Given the description of an element on the screen output the (x, y) to click on. 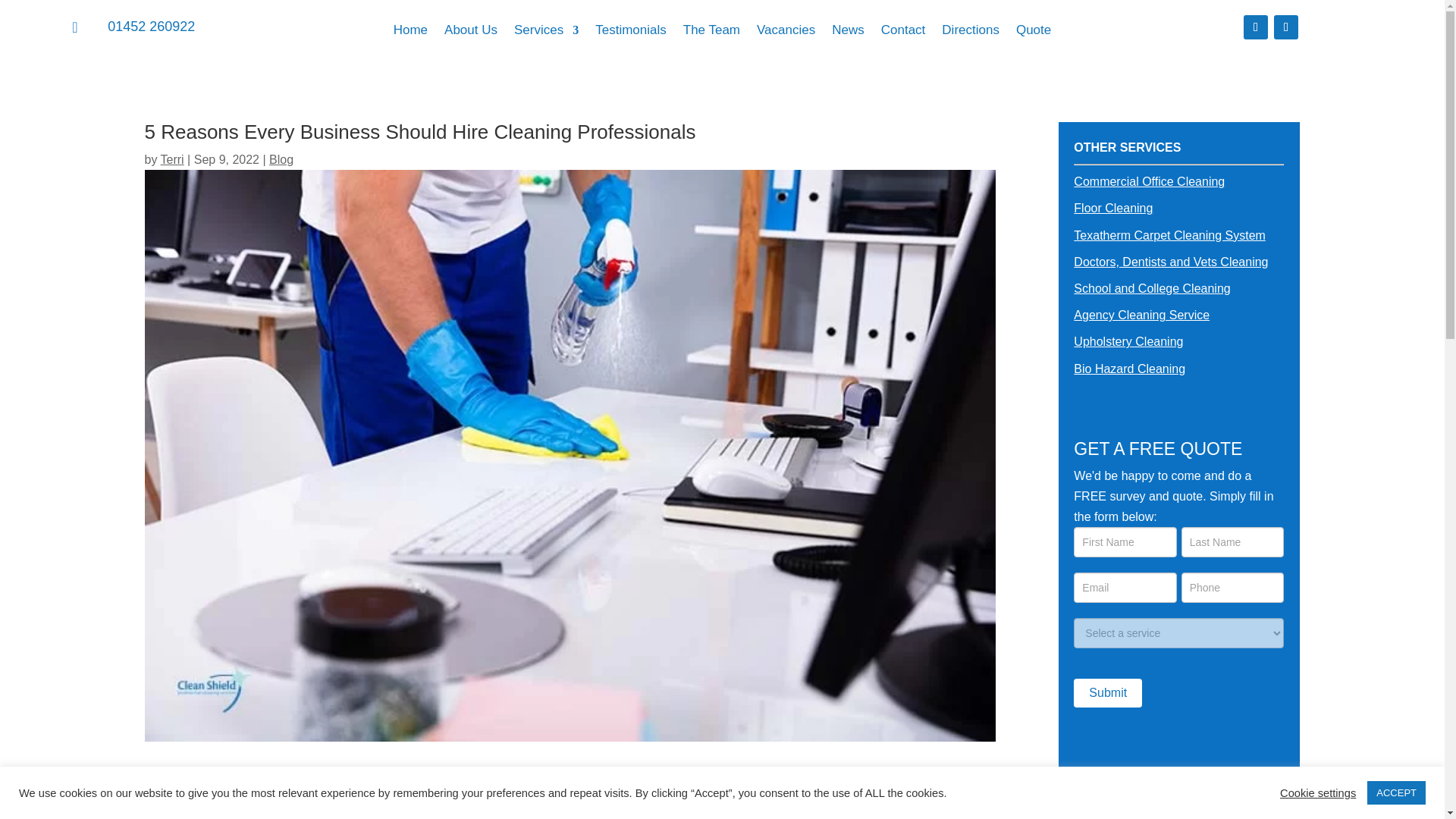
About Us (470, 33)
Testimonials (630, 33)
Follow on X (1286, 27)
Directions (970, 33)
Home (410, 33)
Contact (903, 33)
Quote (1033, 33)
News (847, 33)
The Team (710, 33)
Vacancies (786, 33)
01452 260922 (151, 26)
Posts by Terri (172, 159)
Follow on Facebook (1255, 27)
Services (545, 33)
